Given the description of an element on the screen output the (x, y) to click on. 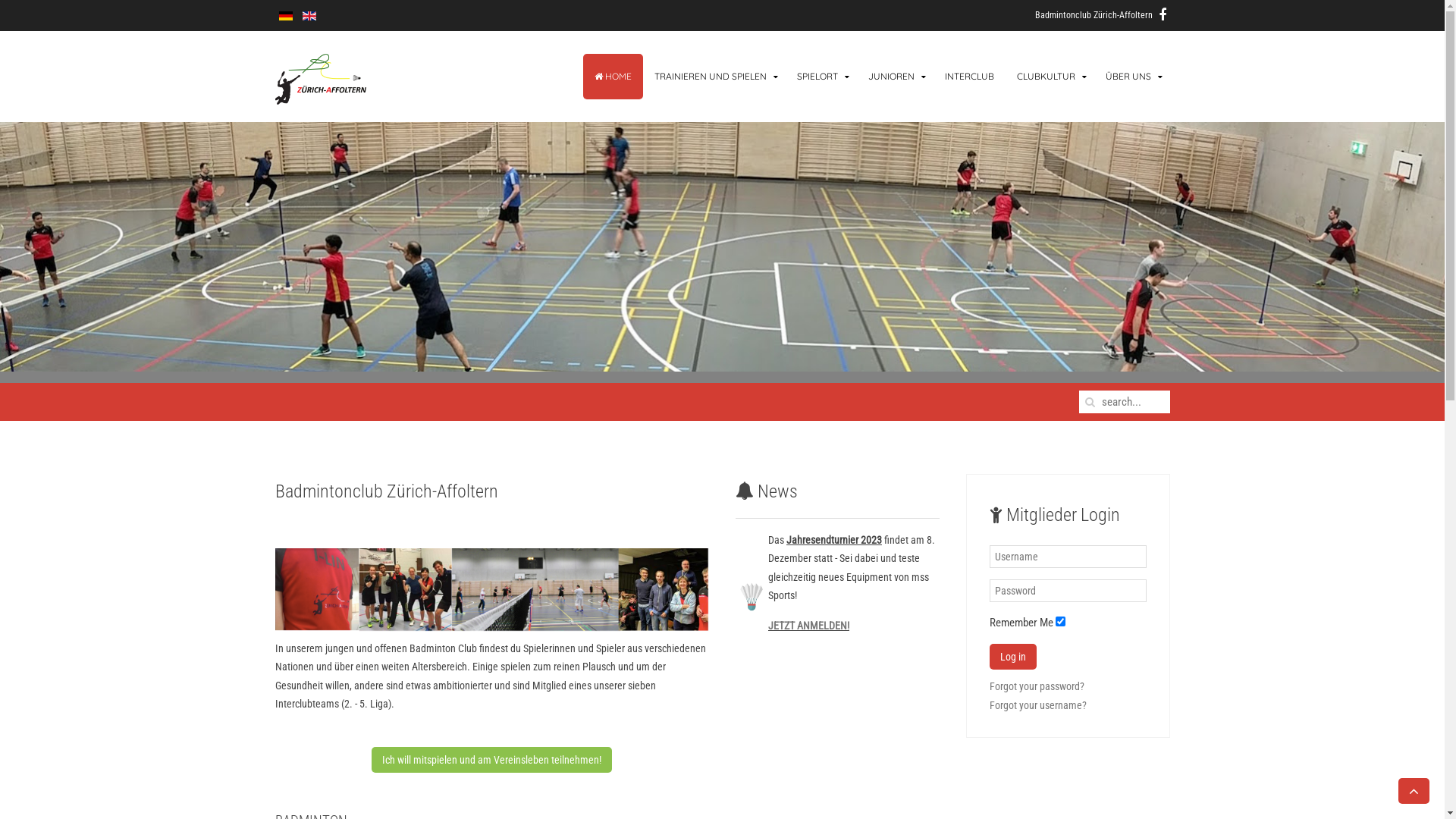
Forgot your password? Element type: text (1036, 686)
Forgot your username? Element type: text (1037, 705)
Ich will mitspielen und am Vereinsleben teilnehmen! Element type: text (491, 759)
Deutsch Element type: hover (285, 15)
Log in Element type: text (1012, 656)
HOME Element type: text (612, 76)
INTERCLUB Element type: text (968, 76)
English (UK) Element type: hover (308, 15)
TRAINIEREN UND SPIELEN Element type: text (714, 76)
JETZT ANMELDEN! Element type: text (808, 625)
JUNIOREN Element type: text (894, 76)
SPIELORT Element type: text (820, 76)
CLUBKULTUR Element type: text (1049, 76)
